Given the description of an element on the screen output the (x, y) to click on. 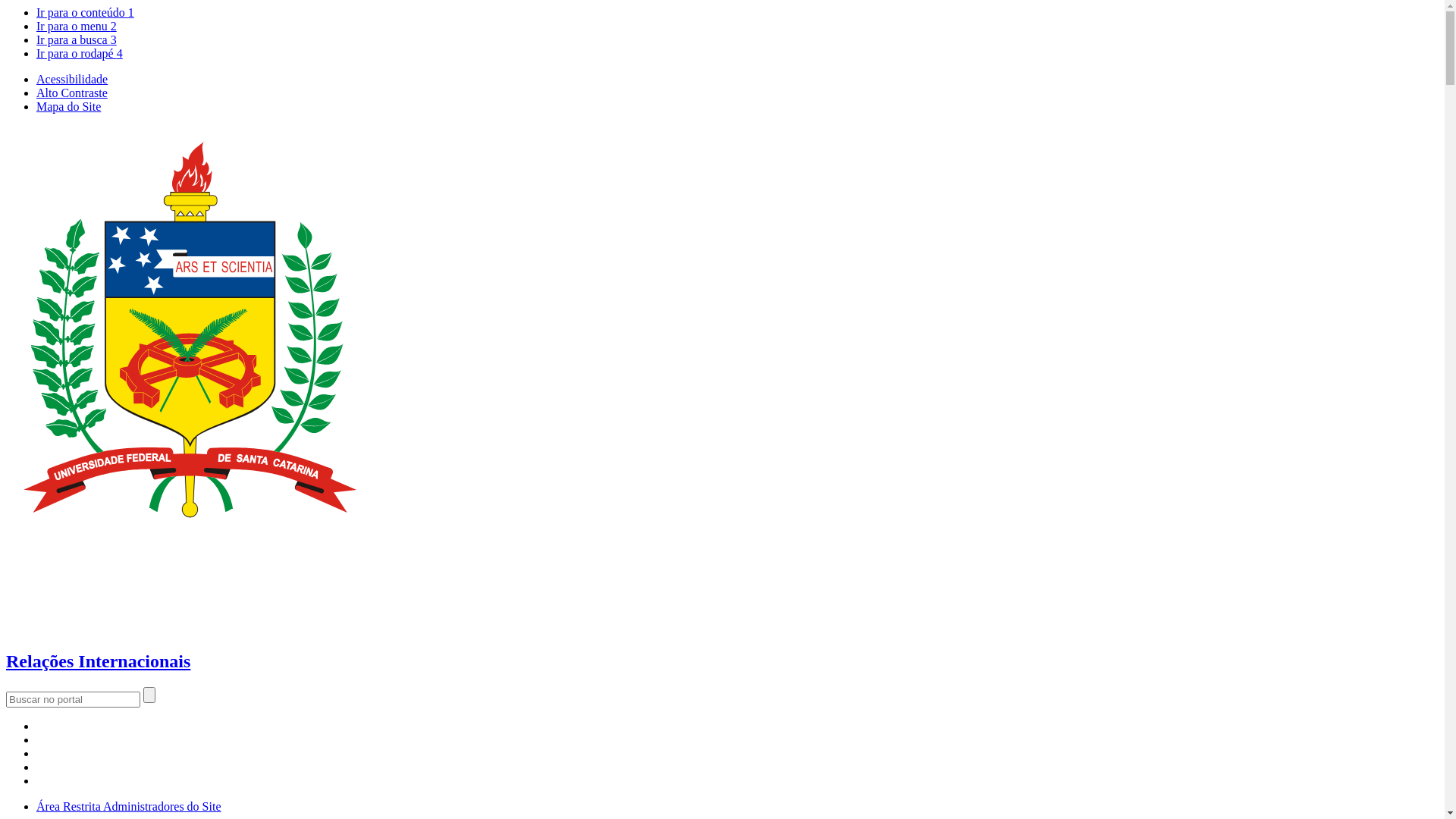
Acessibilidade Element type: text (71, 78)
Administradores do Site Element type: text (162, 806)
Mapa do Site Element type: text (68, 106)
Ir para a busca 3 Element type: text (76, 39)
Alto Contraste Element type: text (71, 92)
Ir para o menu 2 Element type: text (76, 25)
